Given the description of an element on the screen output the (x, y) to click on. 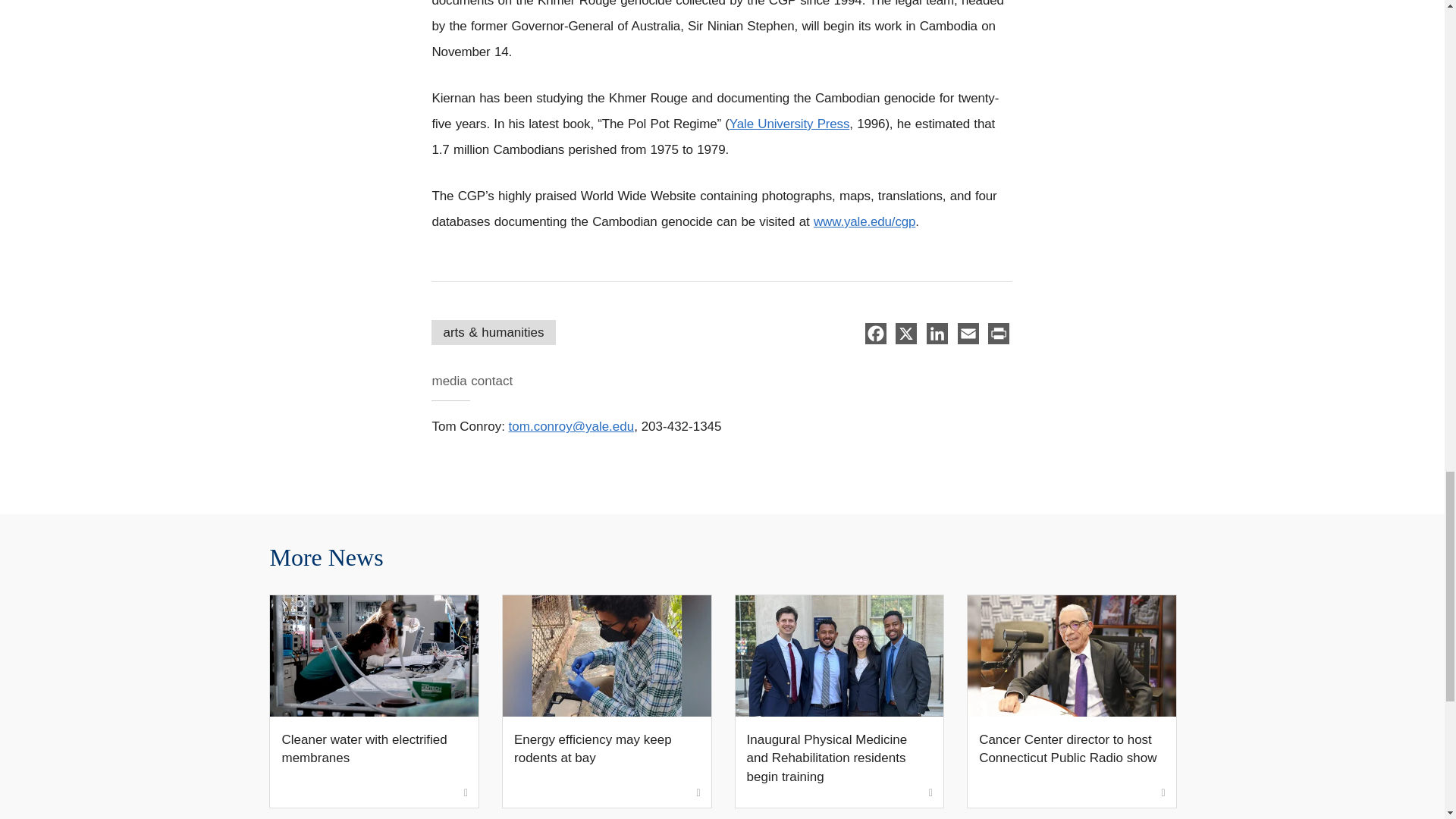
Yale University Press (788, 124)
